Given the description of an element on the screen output the (x, y) to click on. 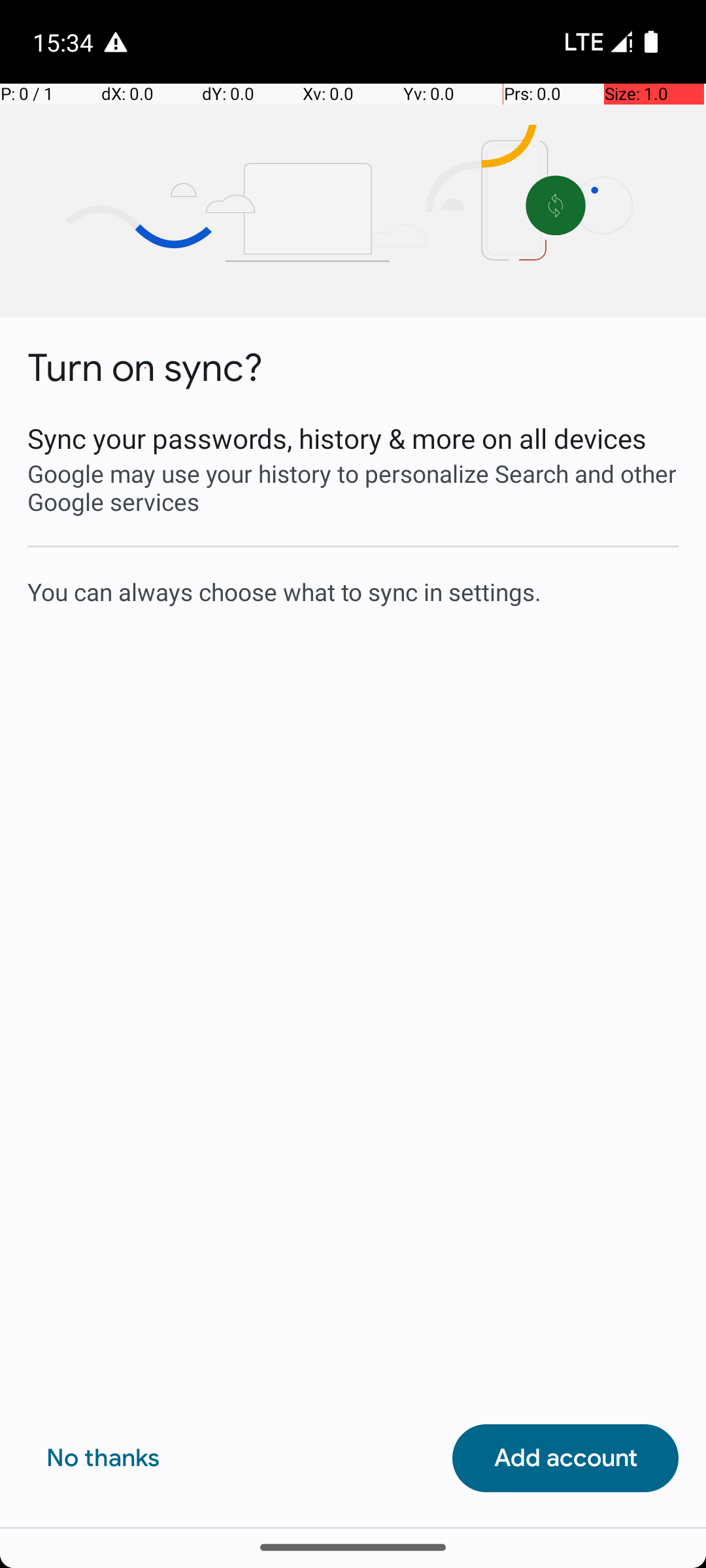
No thanks Element type: android.widget.Button (102, 1458)
Add account Element type: android.widget.Button (565, 1458)
Turn on sync? Element type: android.widget.TextView (144, 368)
Sync your passwords, history & more on all devices Element type: android.widget.TextView (352, 437)
Google may use your history to personalize Search and other Google services Element type: android.widget.TextView (352, 487)
You can always choose what to sync in settings. Element type: android.widget.TextView (352, 591)
